Given the description of an element on the screen output the (x, y) to click on. 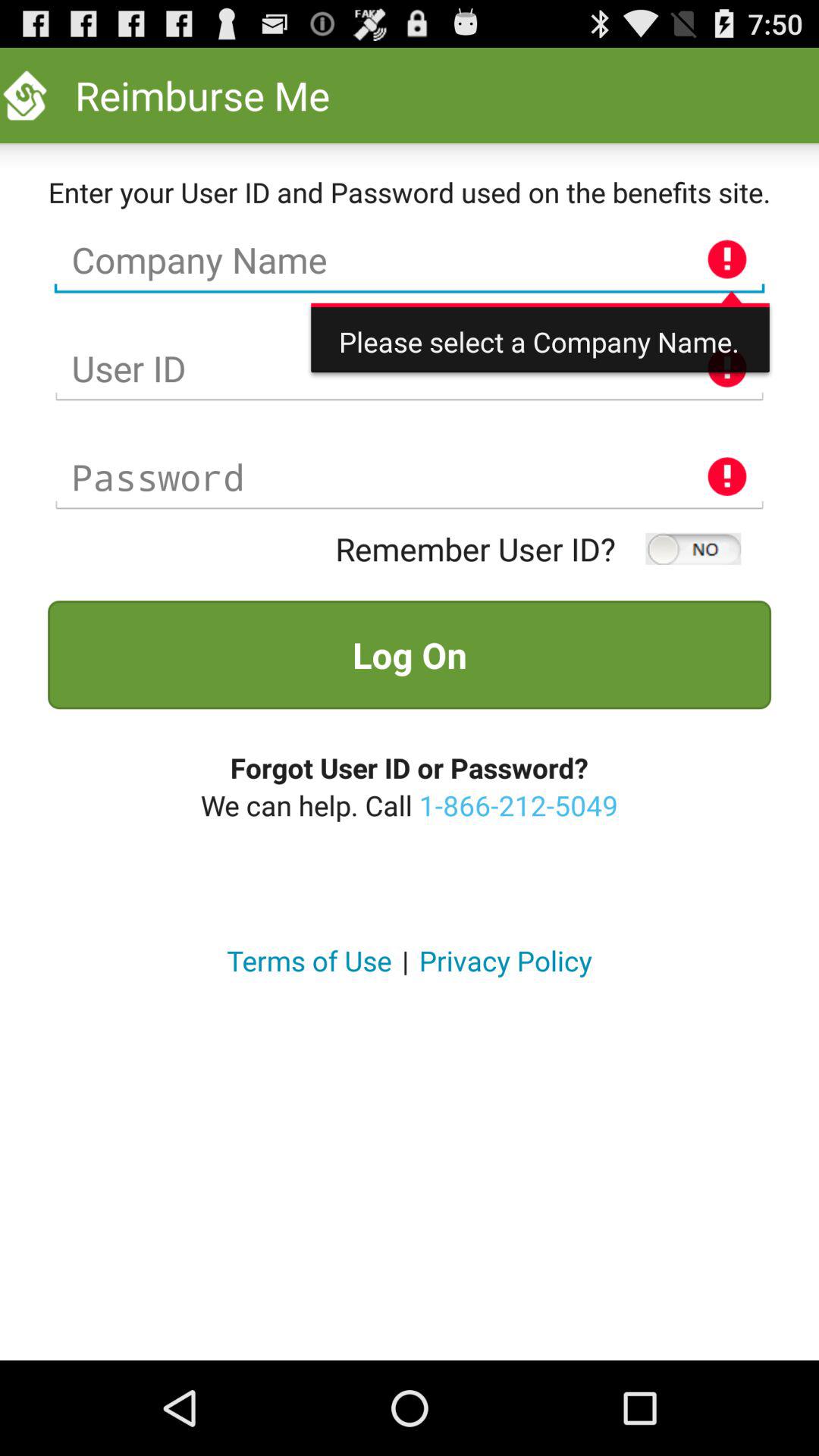
enter the password (409, 477)
